Given the description of an element on the screen output the (x, y) to click on. 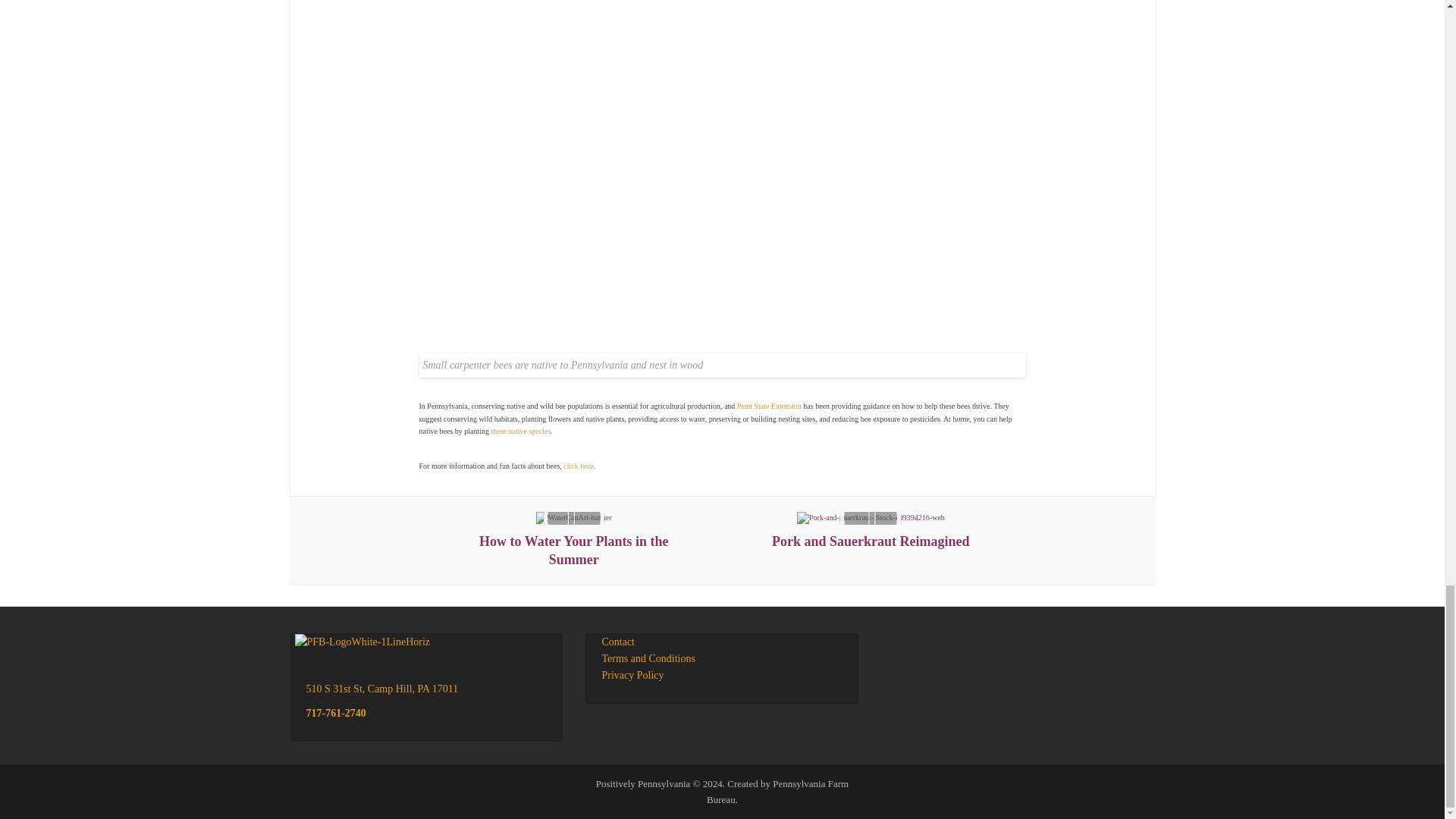
click here (577, 465)
Call via Hangouts (335, 713)
these native species (520, 430)
Contact (617, 641)
Pork and Sauerkraut Reimagined (870, 530)
How to Water Your Plants in the Summer (574, 539)
Privacy Policy (632, 674)
717-761-2740 (335, 713)
510 S 31st St, Camp Hill, PA 17011 (381, 688)
Terms and Conditions (647, 658)
Penn State Extension (769, 406)
